Given the description of an element on the screen output the (x, y) to click on. 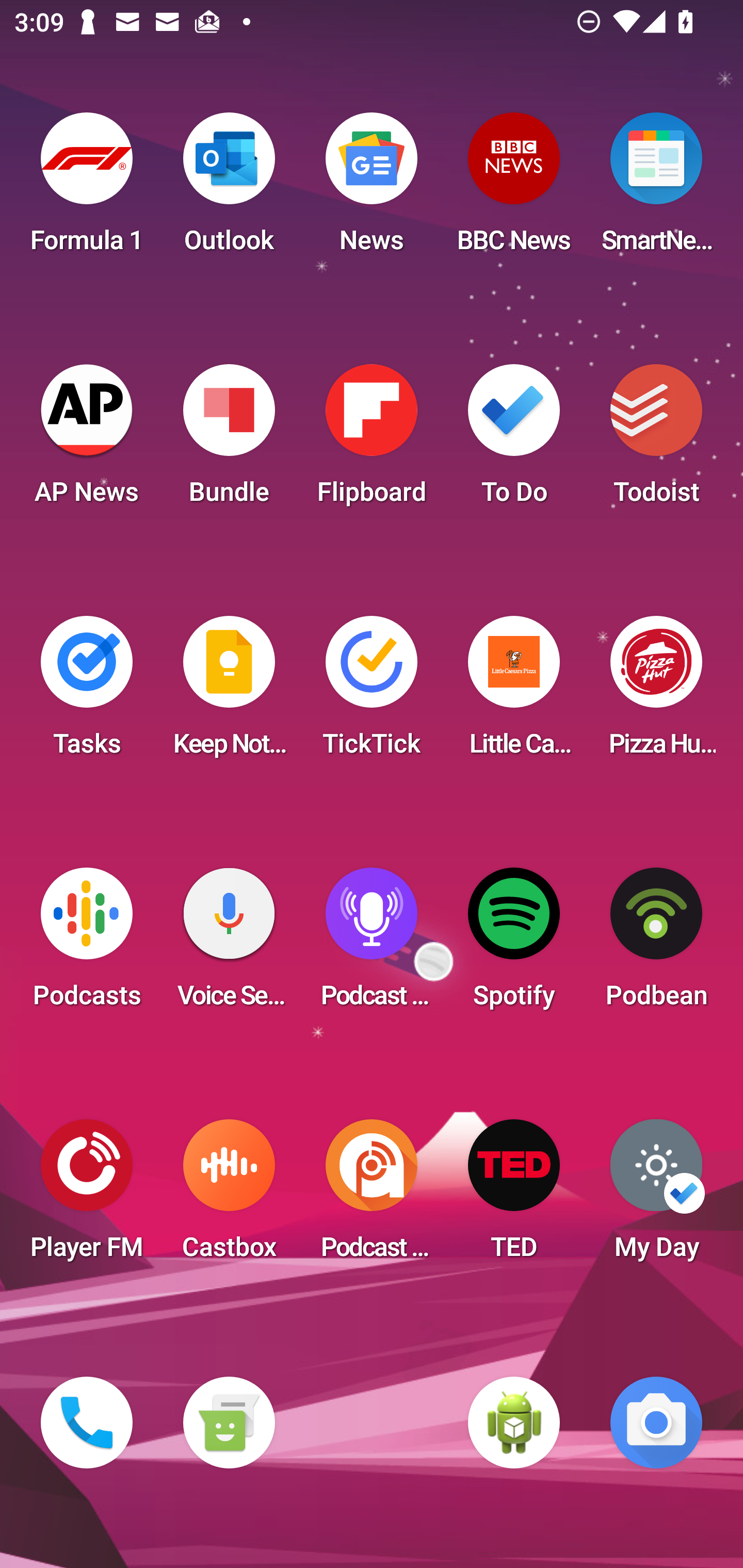
Formula 1 (86, 188)
Outlook (228, 188)
News (371, 188)
BBC News (513, 188)
SmartNews (656, 188)
AP News (86, 440)
Bundle (228, 440)
Flipboard (371, 440)
To Do (513, 440)
Todoist (656, 440)
Tasks (86, 692)
Keep Notes (228, 692)
TickTick (371, 692)
Little Caesars Pizza (513, 692)
Pizza Hut HK & Macau (656, 692)
Podcasts (86, 943)
Voice Search (228, 943)
Podcast Player (371, 943)
Spotify (513, 943)
Podbean (656, 943)
Player FM (86, 1195)
Castbox (228, 1195)
Podcast Addict (371, 1195)
TED (513, 1195)
My Day (656, 1195)
Phone (86, 1422)
Messaging (228, 1422)
WebView Browser Tester (513, 1422)
Camera (656, 1422)
